Given the description of an element on the screen output the (x, y) to click on. 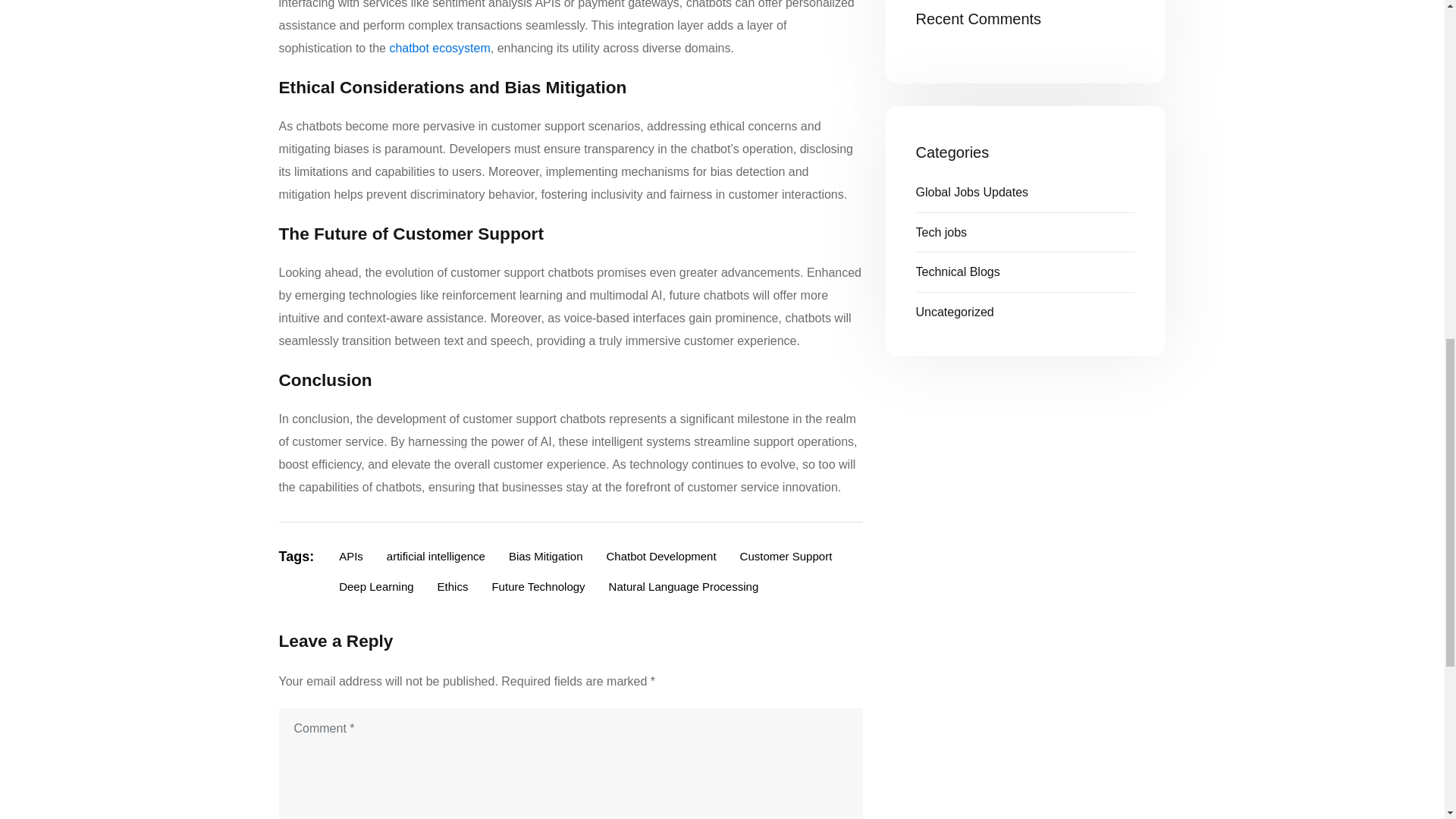
Future Technology (537, 586)
chatbot ecosystem (438, 47)
Ethics (453, 586)
Natural Language Processing (683, 586)
Deep Learning (376, 586)
APIs (350, 556)
Chatbot Development (660, 556)
Customer Support (786, 556)
Bias Mitigation (545, 556)
artificial intelligence (436, 556)
